Given the description of an element on the screen output the (x, y) to click on. 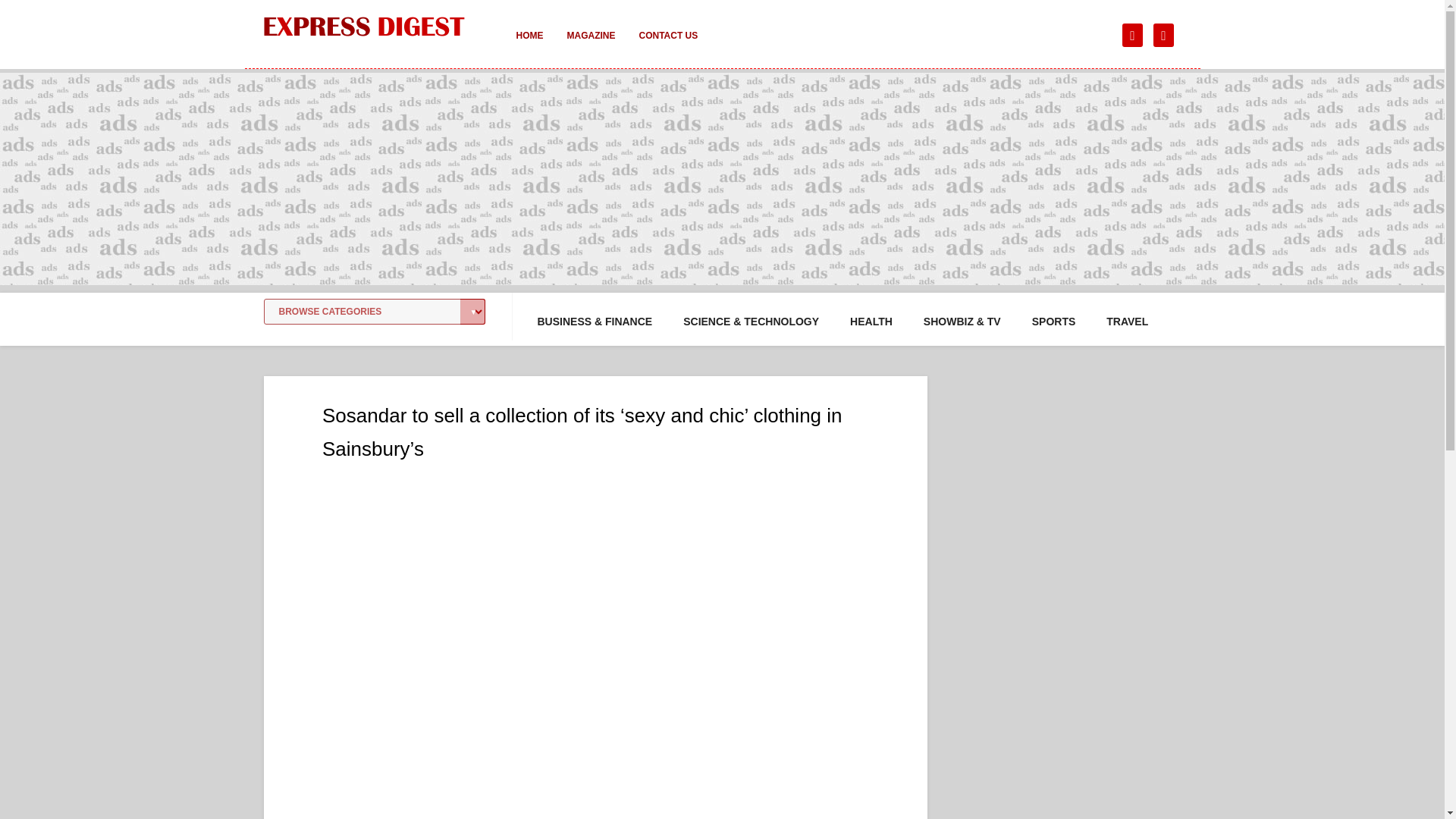
SPORTS (1053, 321)
HEALTH (871, 321)
TRAVEL (1127, 321)
MAGAZINE (590, 45)
CONTACT US (667, 45)
